Given the description of an element on the screen output the (x, y) to click on. 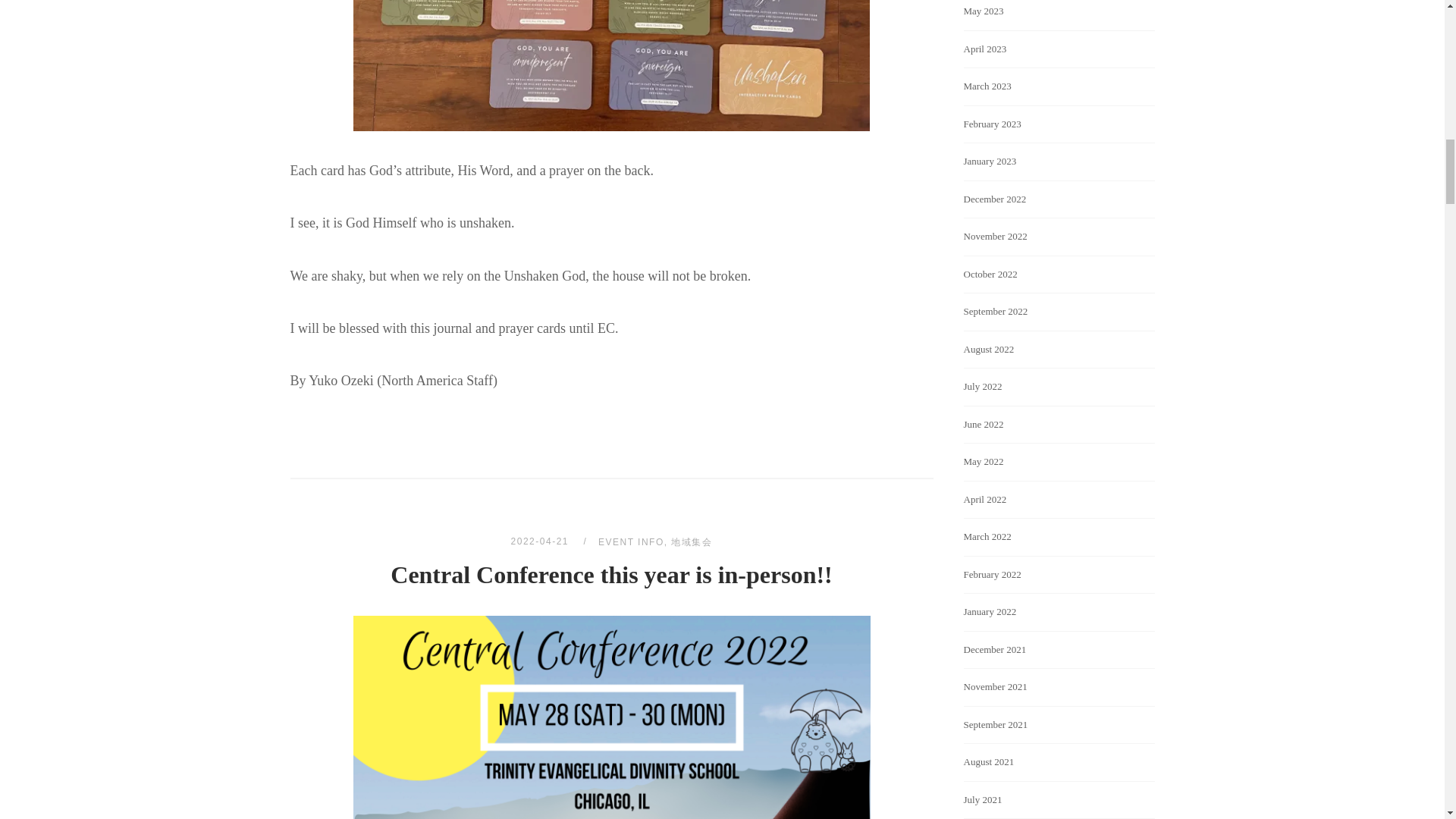
Central Conference this year is in-person!! (541, 541)
2022-04-21 (541, 541)
EVENT INFO (630, 542)
Central Conference this year is in-person!! (610, 574)
